Given the description of an element on the screen output the (x, y) to click on. 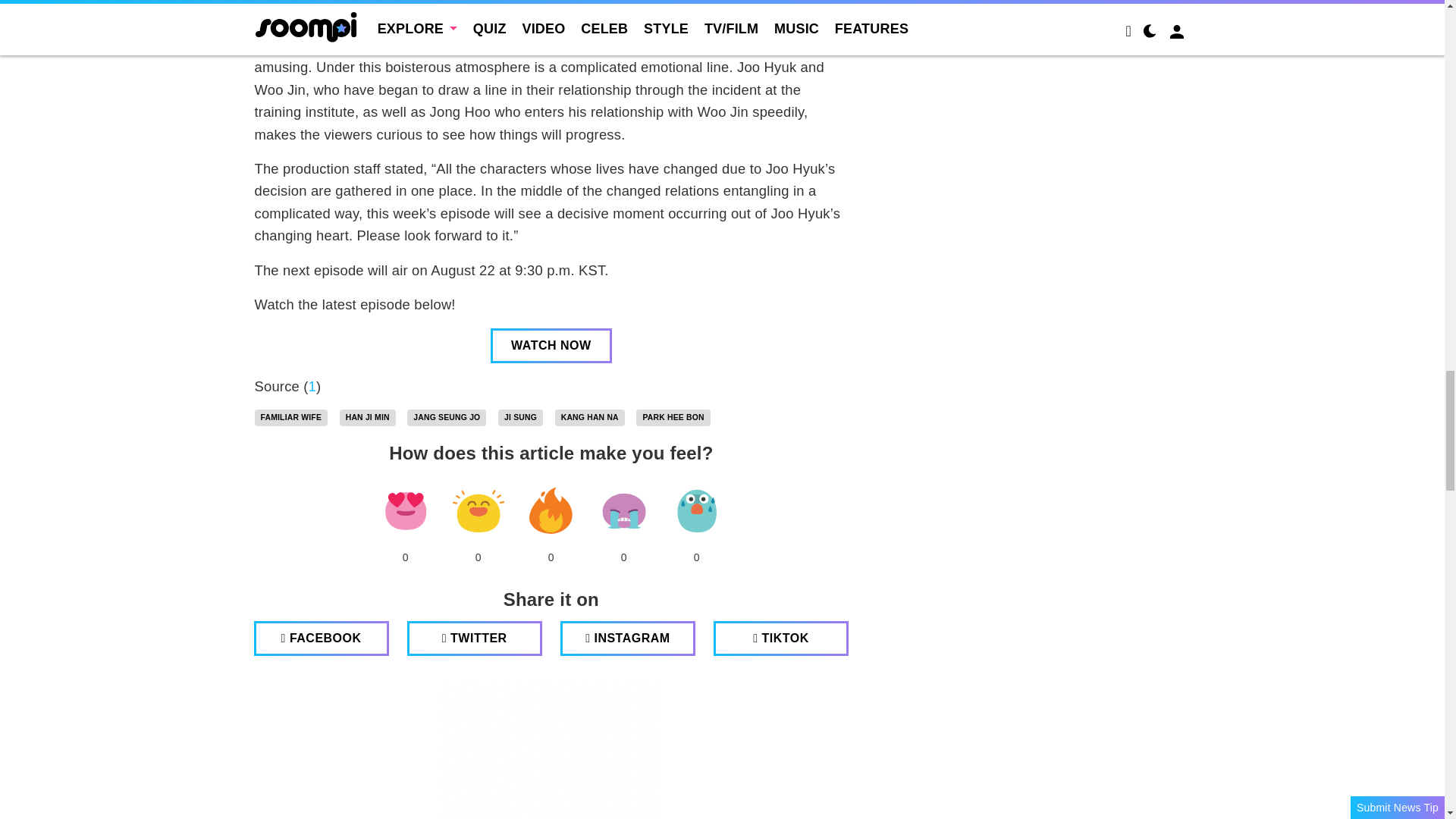
Ji Sung (520, 417)
3rd party ad content (551, 749)
Jang Seung Jo (446, 417)
JANG SEUNG JO (446, 417)
LOL (478, 510)
WATCH NOW (550, 345)
Crying (623, 510)
Han Ji Min (367, 417)
Heart (405, 510)
FAMILIAR WIFE (291, 417)
OMG (696, 510)
Familiar Wife (291, 417)
HAN JI MIN (367, 417)
Fire (550, 510)
Kang Han Na (589, 417)
